Given the description of an element on the screen output the (x, y) to click on. 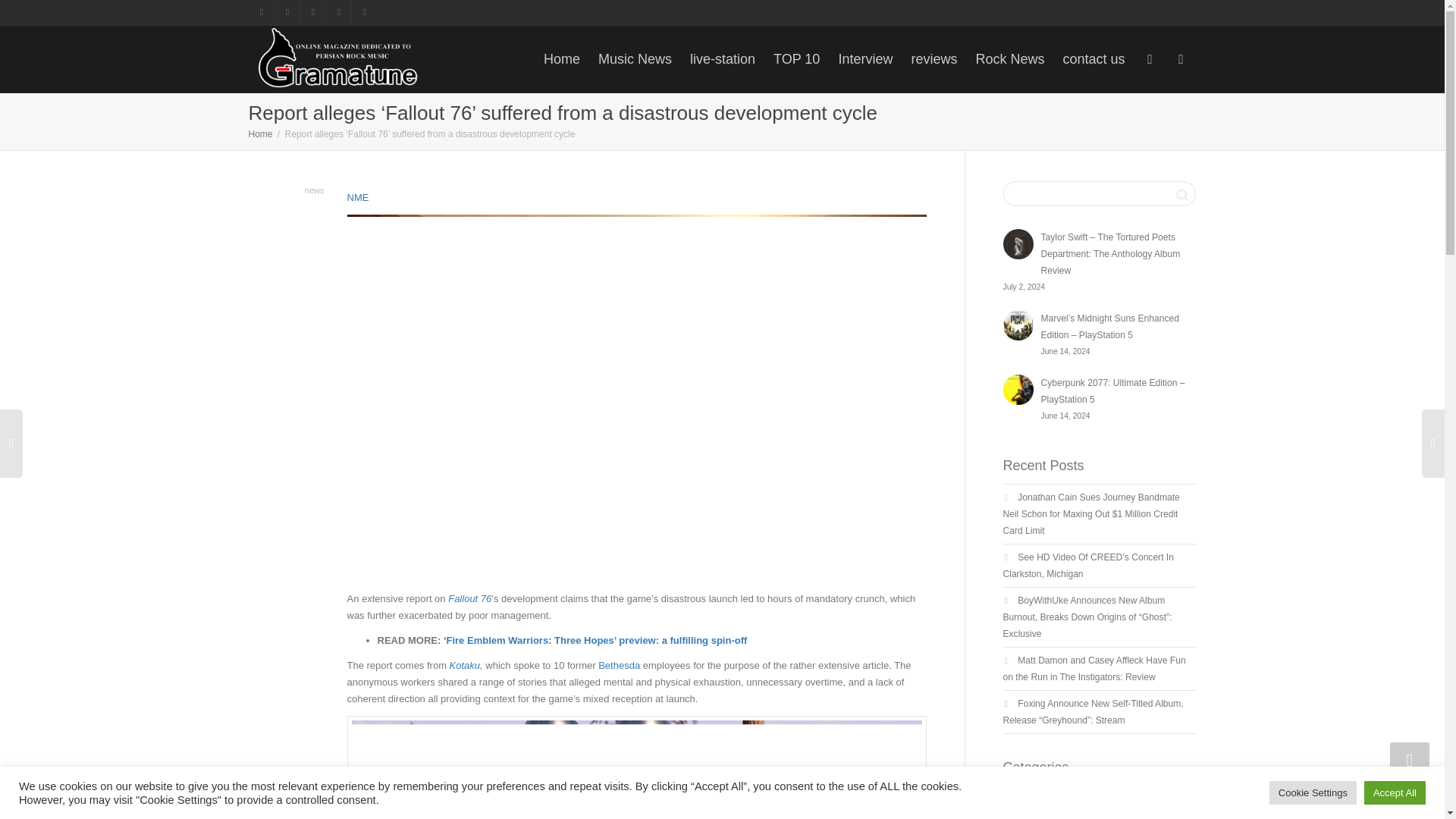
Rock News (1009, 58)
Music News (634, 58)
contact us (1093, 58)
NME (358, 197)
live-station (722, 58)
news (314, 189)
Rock News (1009, 58)
Bethesda (619, 665)
live-station (722, 58)
contact us (1093, 58)
Music News (634, 58)
Search (1181, 194)
Kotaku (464, 665)
Home (260, 133)
Fallout 76 (470, 598)
